Given the description of an element on the screen output the (x, y) to click on. 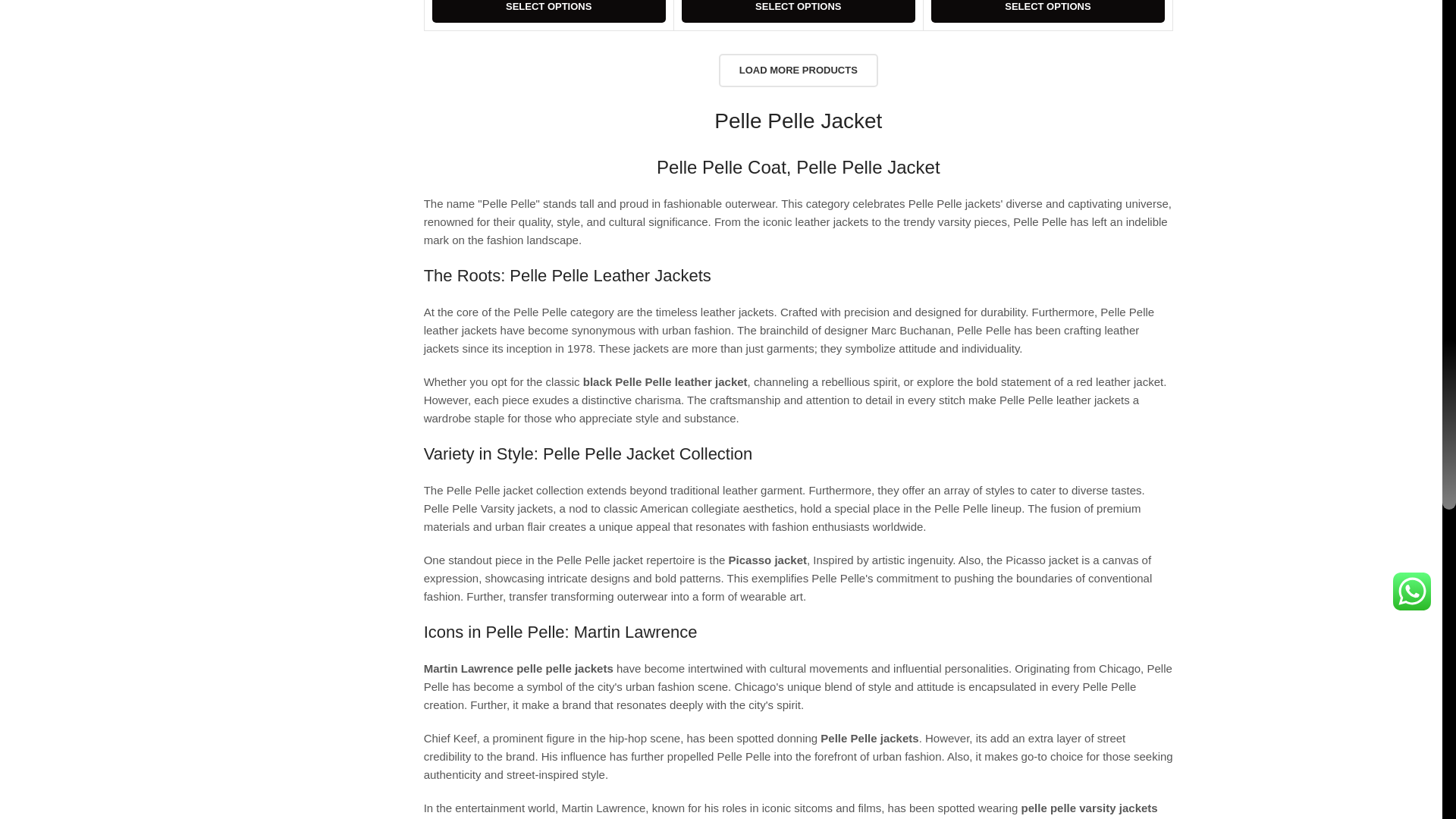
LOAD MORE PRODUCTS (798, 70)
